Given the description of an element on the screen output the (x, y) to click on. 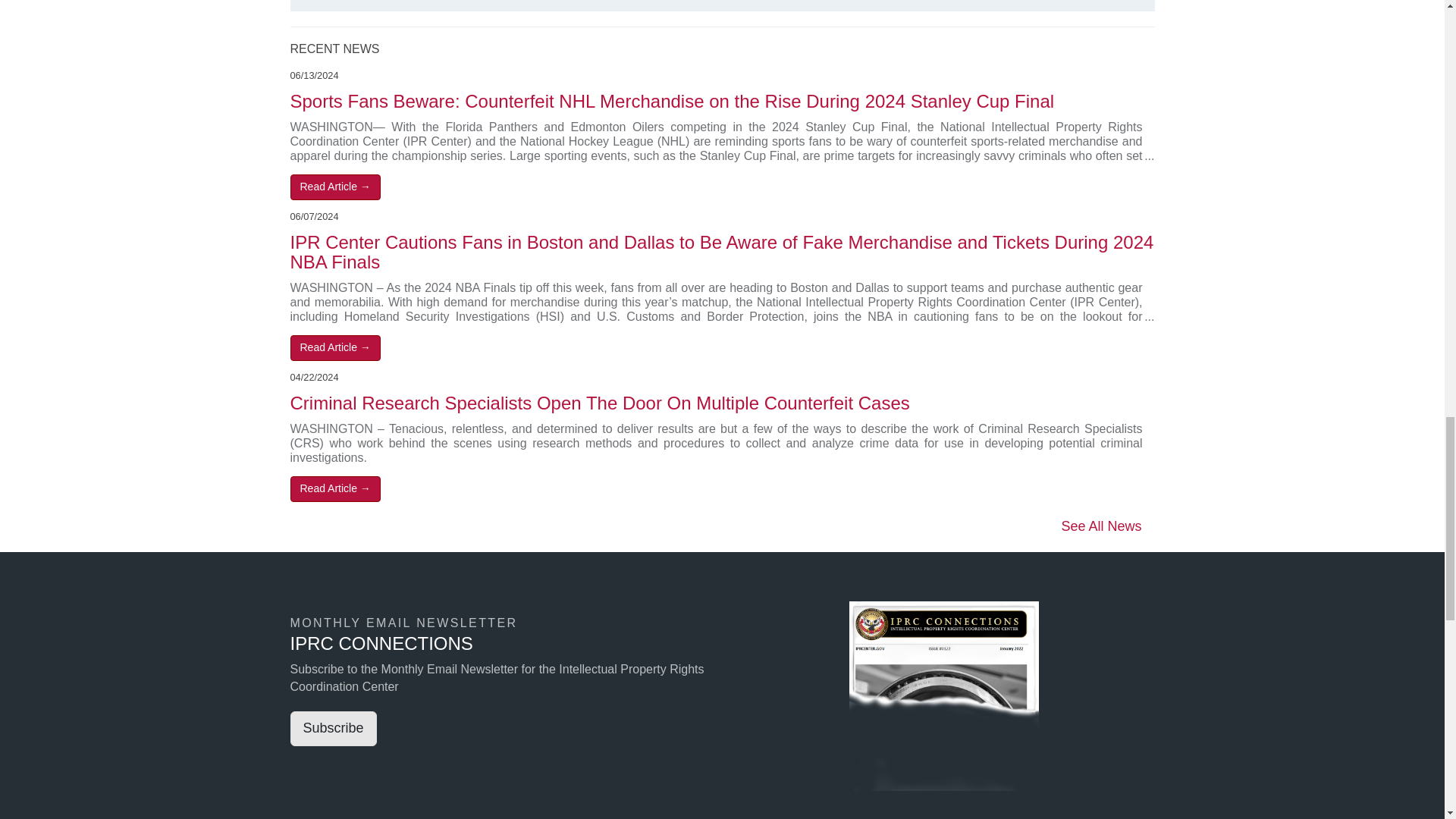
See All News (1101, 526)
Subscribe (332, 728)
